Given the description of an element on the screen output the (x, y) to click on. 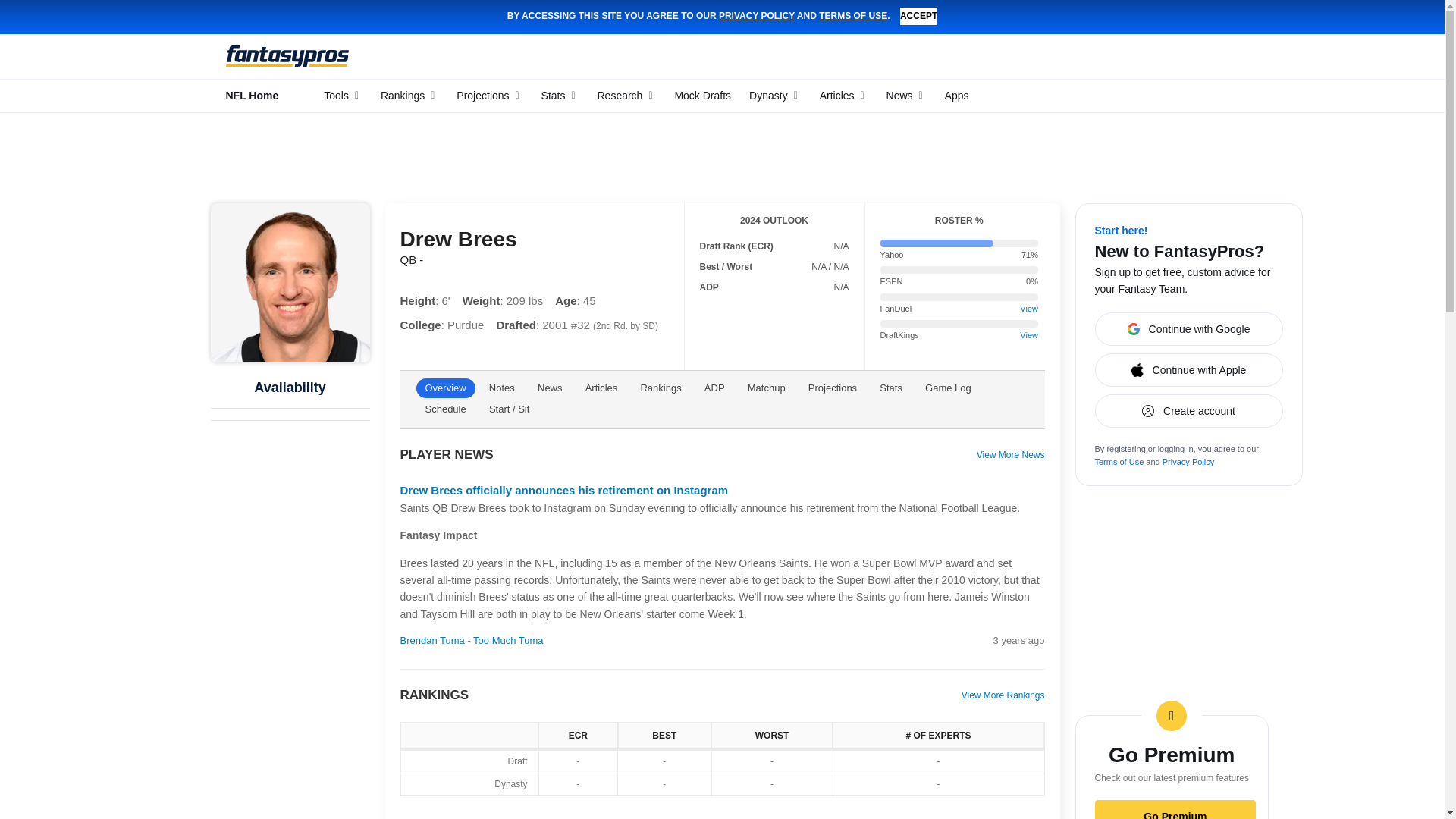
TERMS OF USE (852, 15)
PRIVACY POLICY (756, 15)
ACCEPT (918, 16)
